Given the description of an element on the screen output the (x, y) to click on. 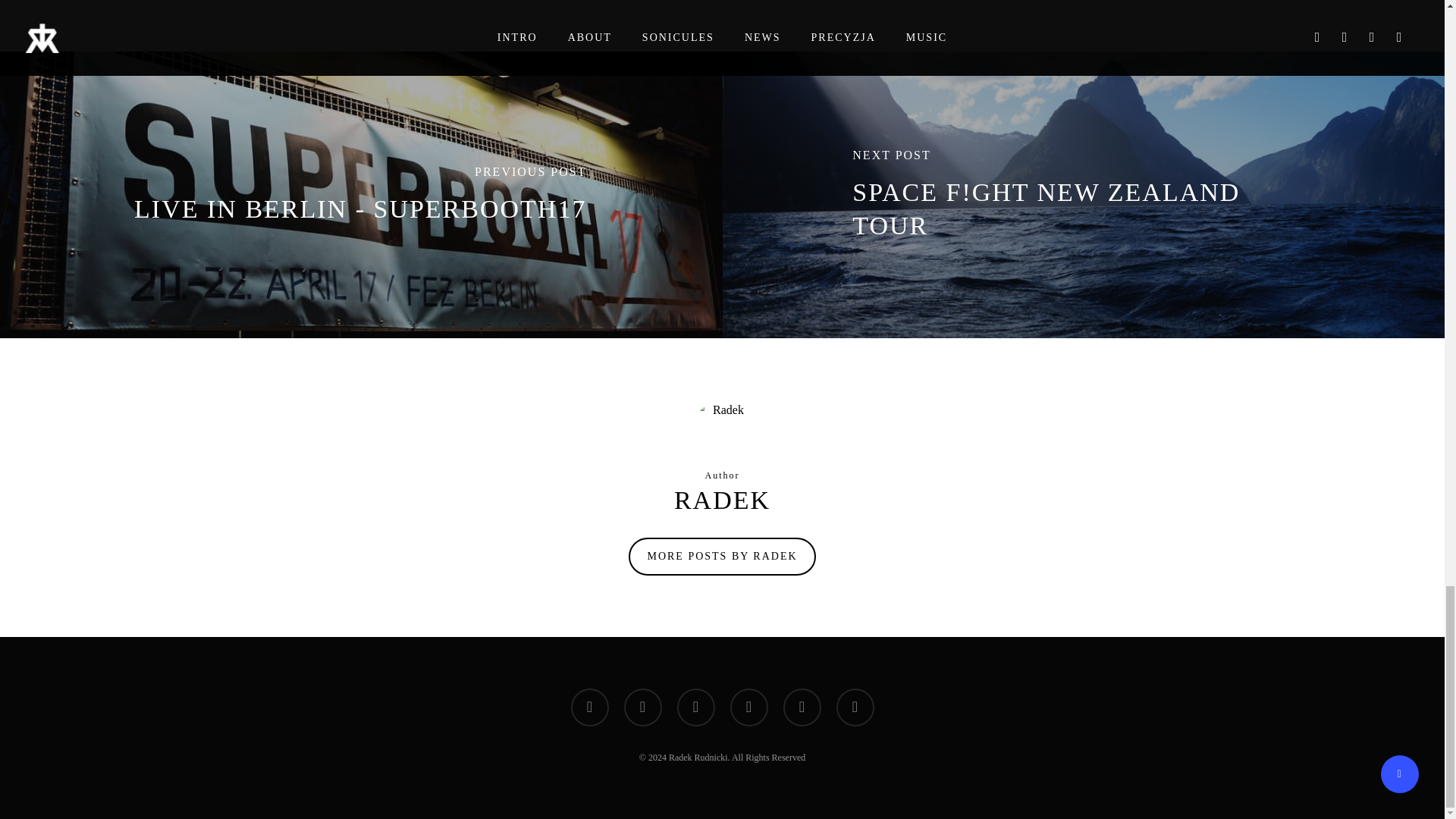
MORE POSTS BY RADEK (721, 556)
